Given the description of an element on the screen output the (x, y) to click on. 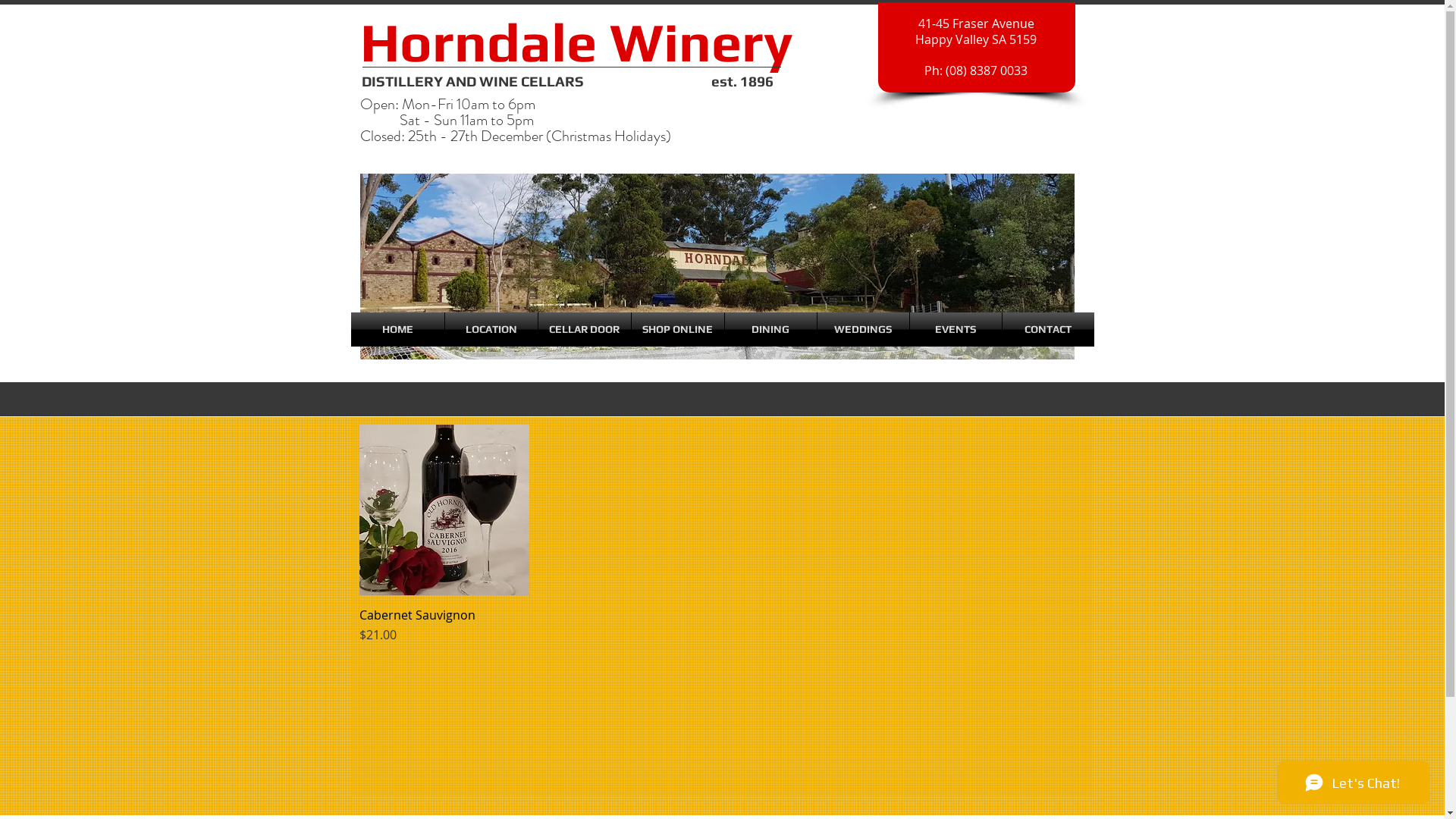
SHOP ONLINE Element type: text (676, 329)
Horndale Winery Element type: text (575, 41)
WEDDINGS Element type: text (863, 329)
EVENTS Element type: text (955, 329)
CELLAR DOOR Element type: text (584, 329)
Cabernet Sauvignon
Price
$21.00 Element type: text (444, 625)
DINING Element type: text (770, 329)
CONTACT Element type: text (1048, 329)
HOME Element type: text (396, 329)
LOCATION Element type: text (490, 329)
